Given the description of an element on the screen output the (x, y) to click on. 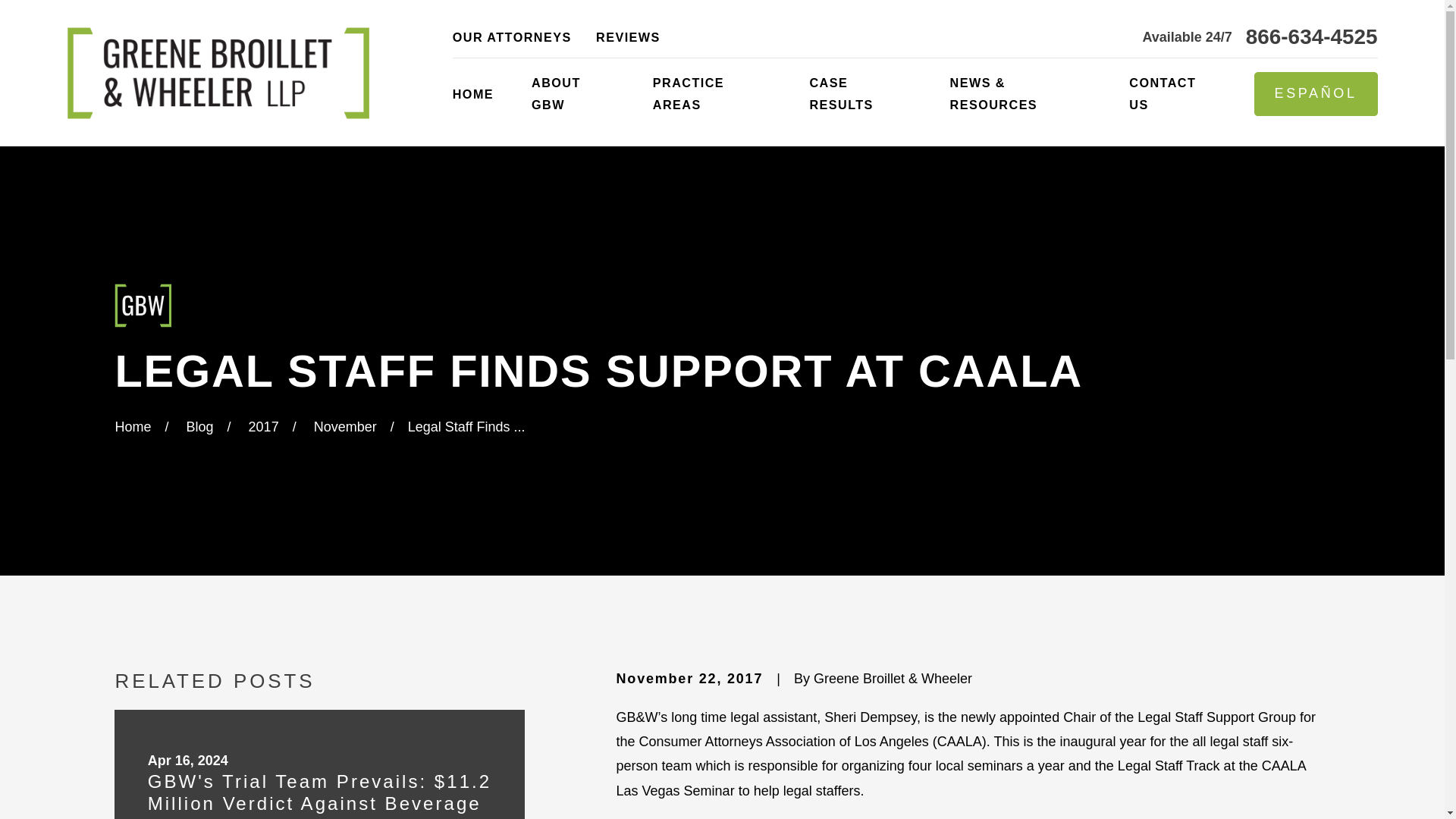
Home (217, 72)
OUR ATTORNEYS (512, 37)
HOME (472, 94)
PRACTICE AREAS (711, 94)
REVIEWS (628, 37)
ABOUT GBW (572, 94)
866-634-4525 (1311, 36)
Go Home (133, 426)
CASE RESULTS (860, 94)
